Given the description of an element on the screen output the (x, y) to click on. 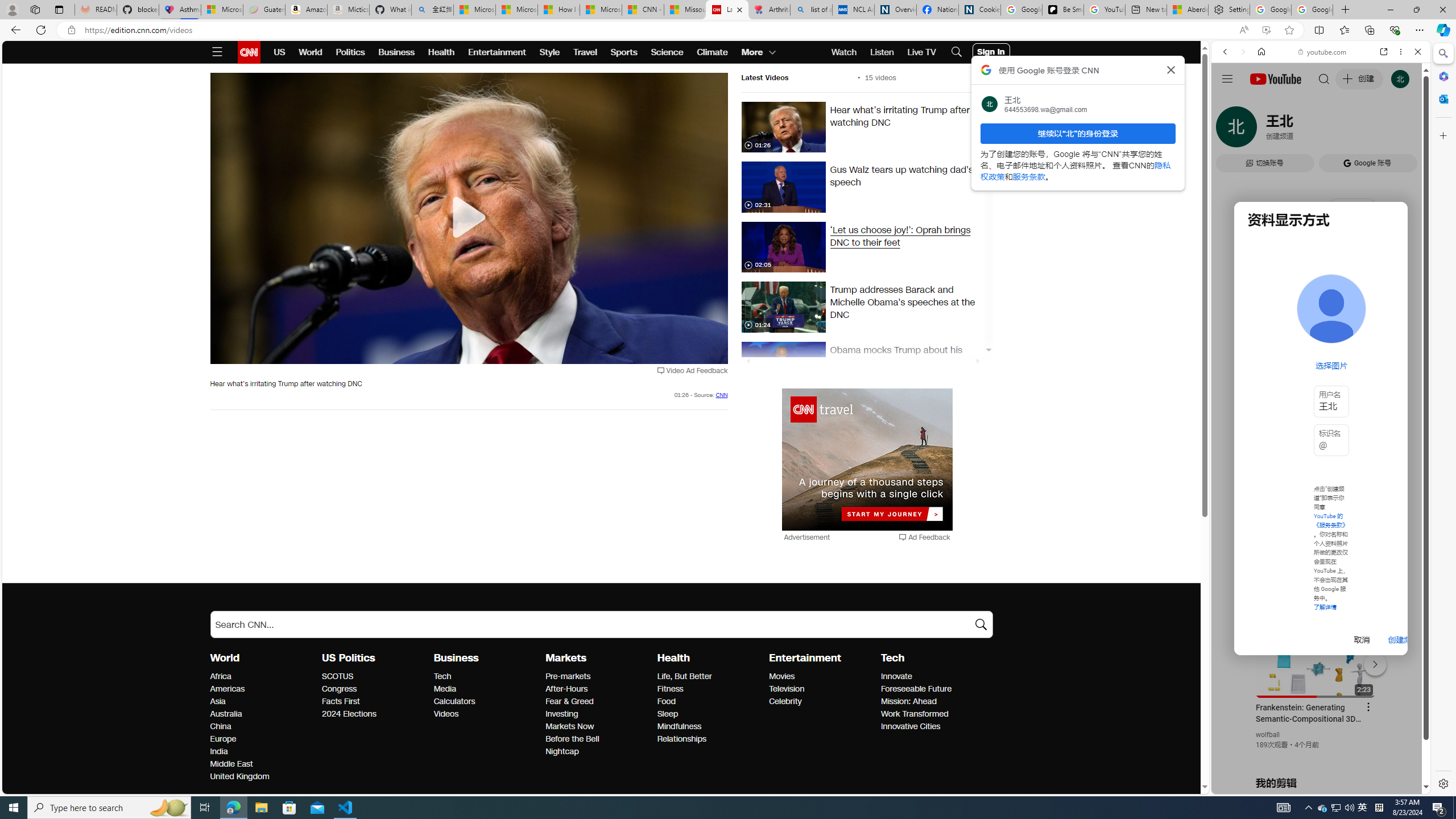
Before the Bell (598, 739)
Celebrity (820, 701)
US Politics 2024 Elections (349, 713)
Pre-markets (598, 676)
Investing (598, 714)
Africa (262, 676)
Australia (262, 714)
After-Hours (598, 688)
Innovative Cities (932, 726)
